Given the description of an element on the screen output the (x, y) to click on. 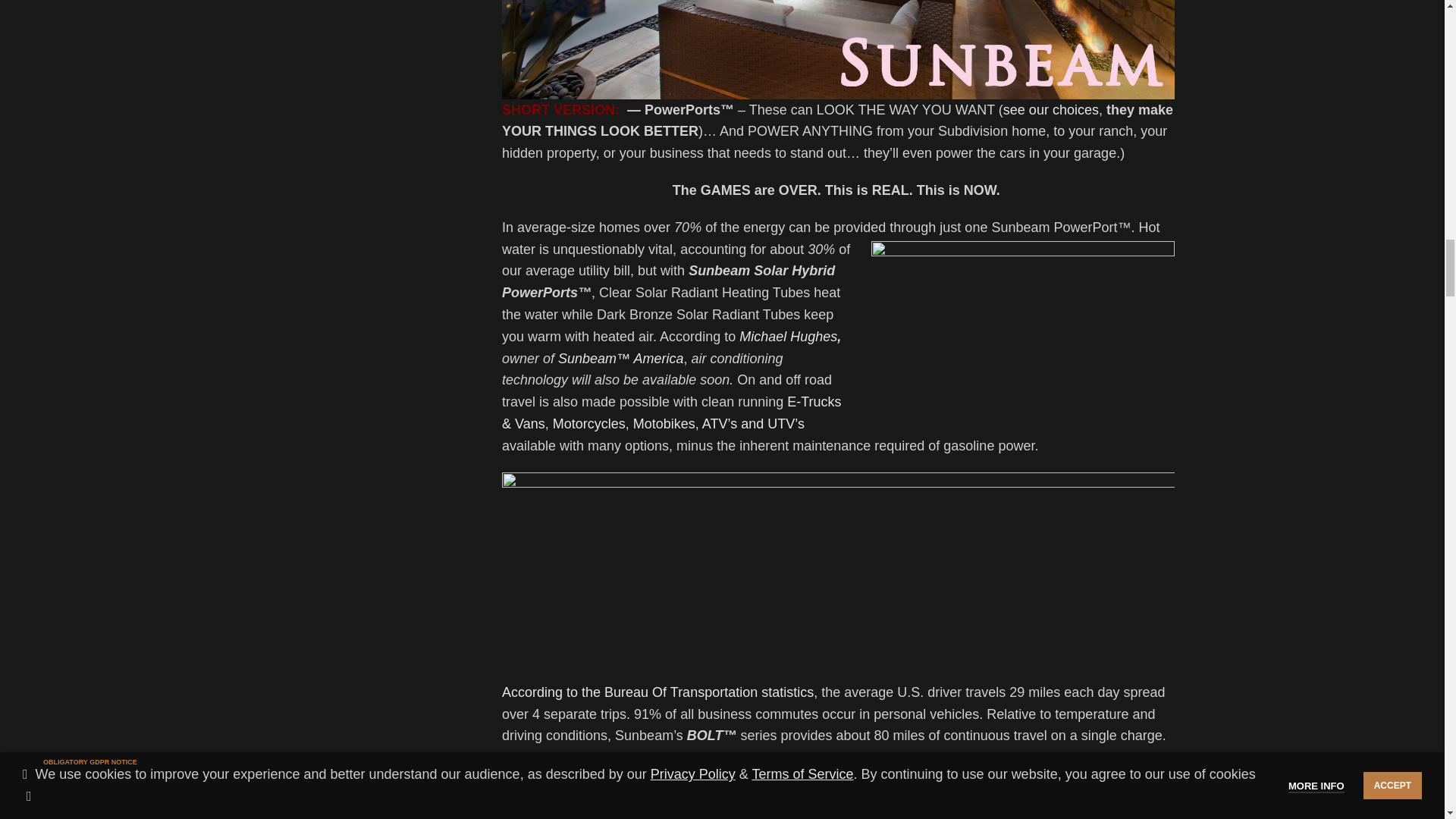
see our choices (1051, 109)
Motorcycles (589, 423)
Michael Hughes (788, 336)
Motobikes (664, 423)
According to the Bureau Of Transportation statistics (657, 692)
